Given the description of an element on the screen output the (x, y) to click on. 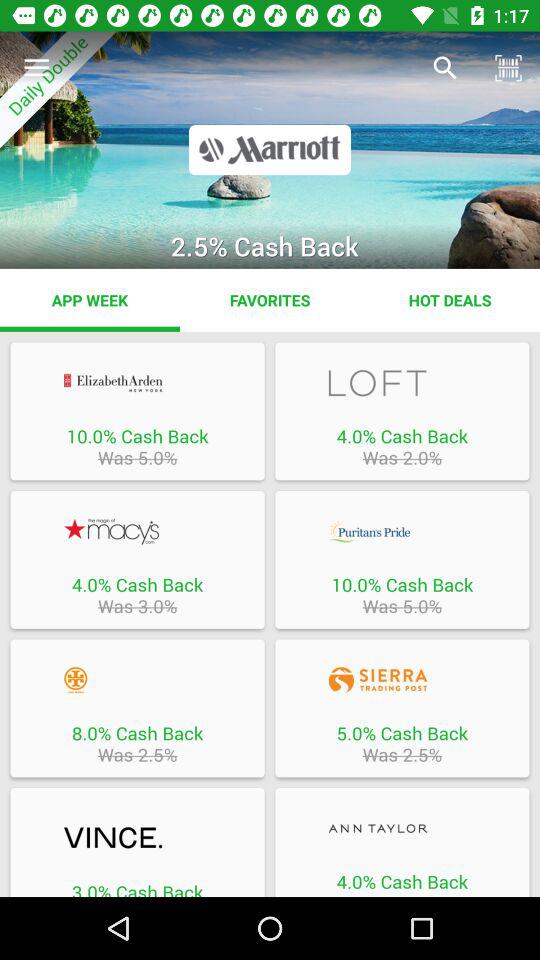
view offer (137, 382)
